Given the description of an element on the screen output the (x, y) to click on. 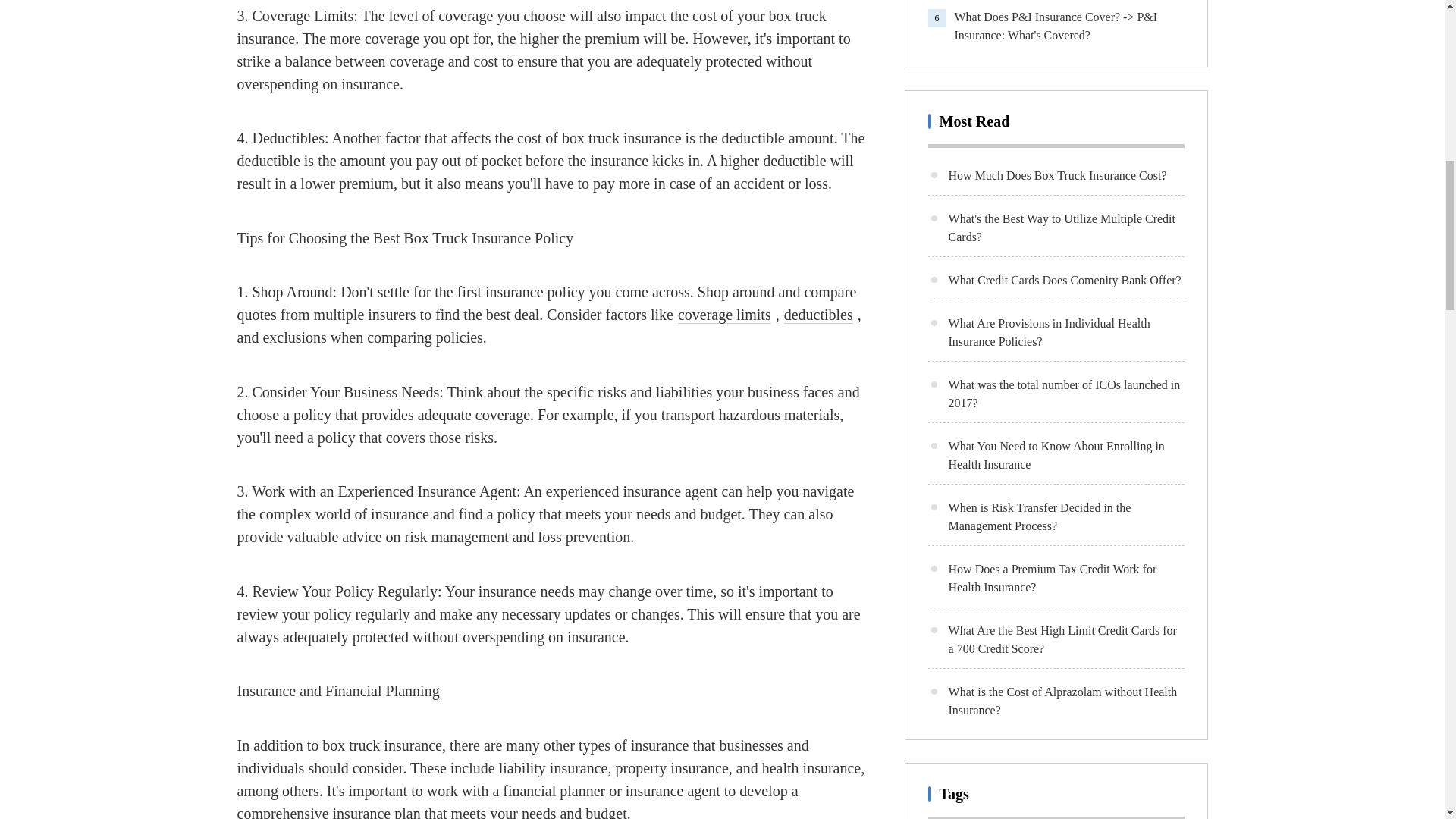
deductibles (818, 314)
coverage limits (724, 314)
deductibles (818, 314)
coverage limits (724, 314)
